Given the description of an element on the screen output the (x, y) to click on. 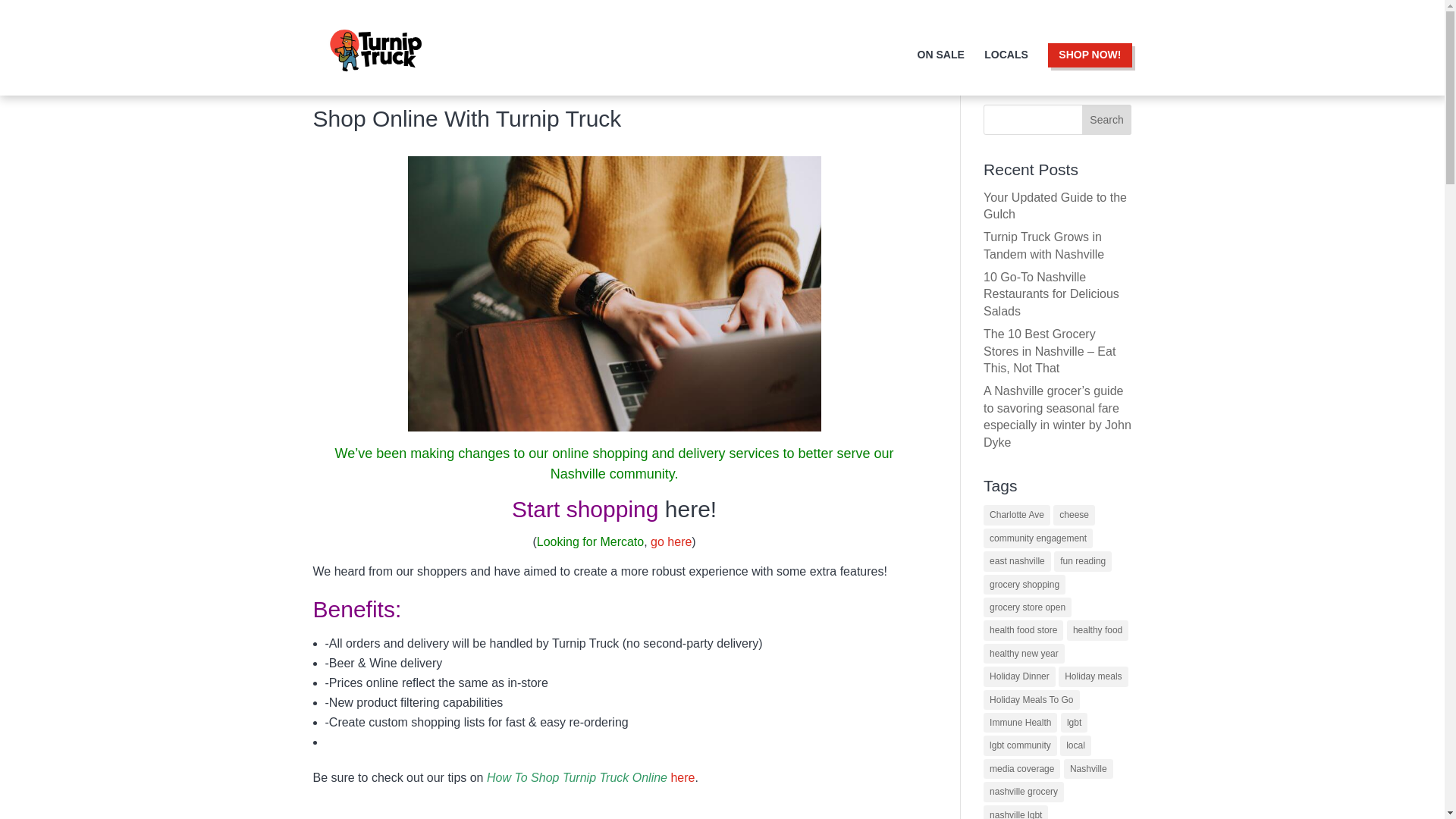
SHOP NOW! (1089, 61)
Holiday Meals To Go (1032, 700)
ON SALE (940, 68)
healthy food (1097, 629)
Your Updated Guide to the Gulch (1055, 205)
healthy new year (1024, 653)
Holiday Dinner (1019, 676)
cheese (1073, 514)
Immune Health (1020, 722)
go here (670, 541)
Holiday meals (1092, 676)
health food store (1023, 629)
Search (1106, 119)
nashville lgbt (1016, 812)
here (681, 777)
